Given the description of an element on the screen output the (x, y) to click on. 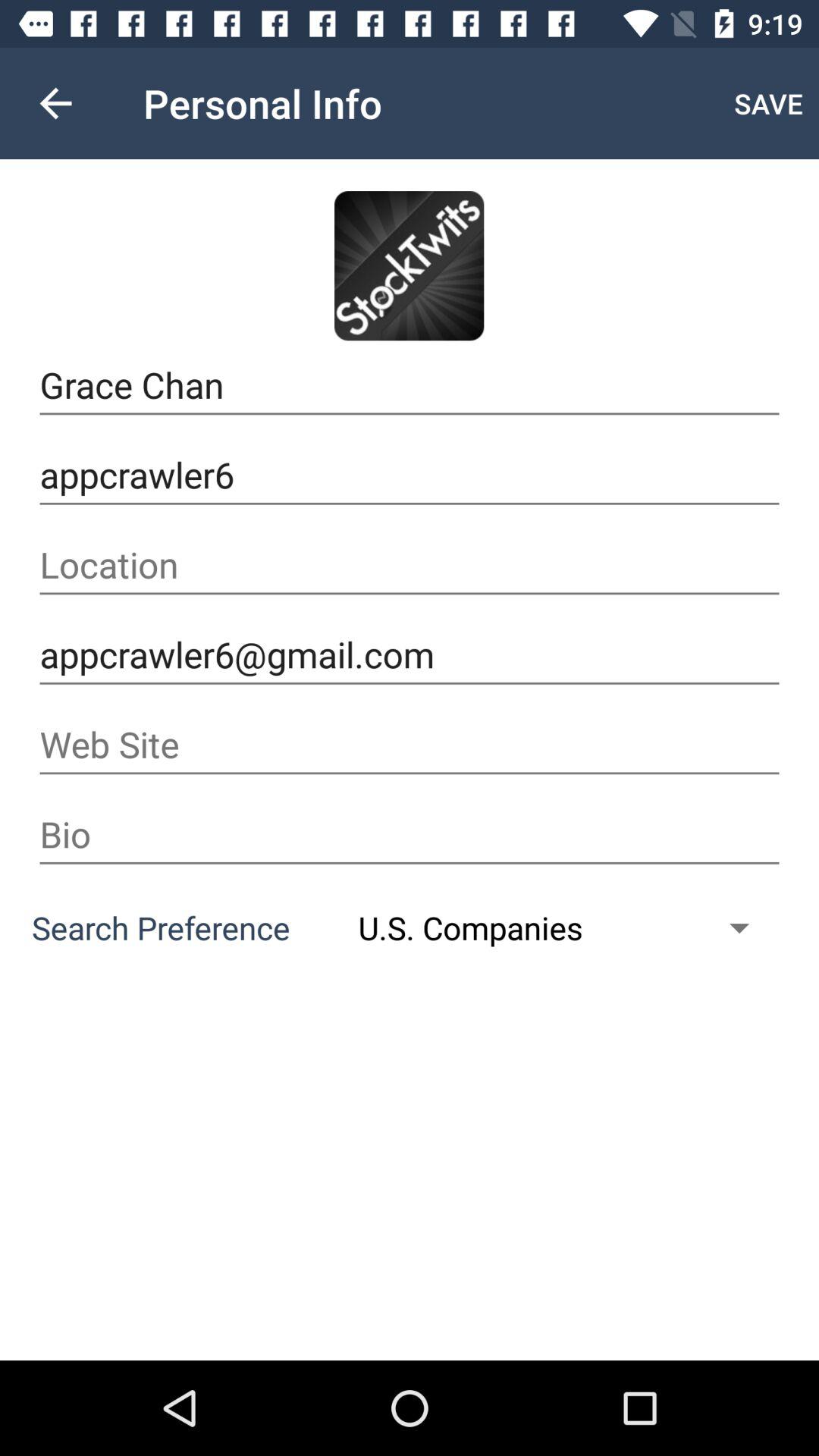
turn off the icon below appcrawler6 item (409, 565)
